Given the description of an element on the screen output the (x, y) to click on. 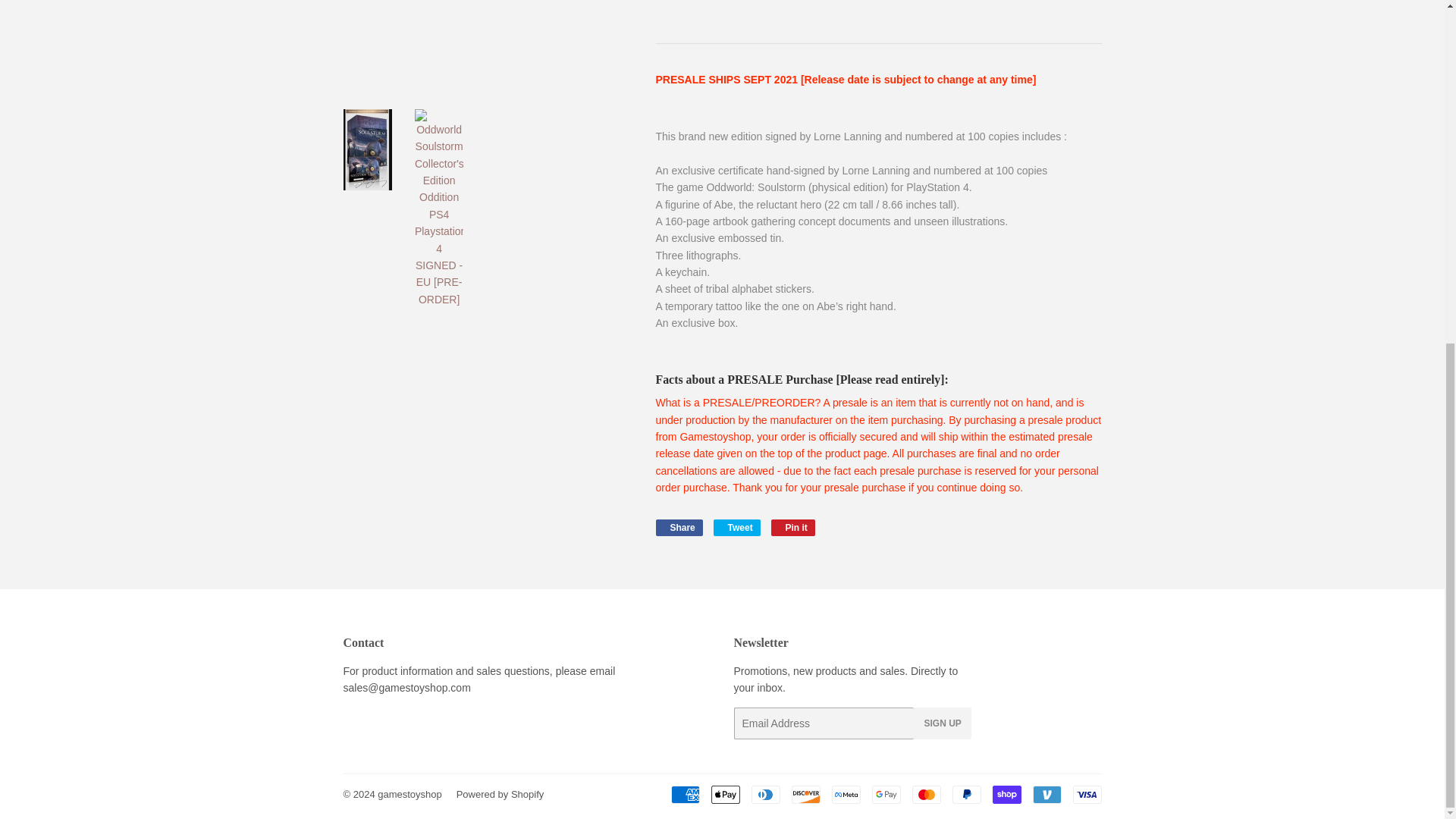
Visa (1085, 794)
PayPal (966, 794)
Apple Pay (725, 794)
Tweet on Twitter (736, 527)
American Express (683, 794)
Share on Facebook (678, 527)
Discover (806, 794)
Google Pay (886, 794)
Venmo (1046, 794)
Mastercard (925, 794)
Meta Pay (845, 794)
Shop Pay (1005, 794)
Diners Club (764, 794)
Pin on Pinterest (793, 527)
